Given the description of an element on the screen output the (x, y) to click on. 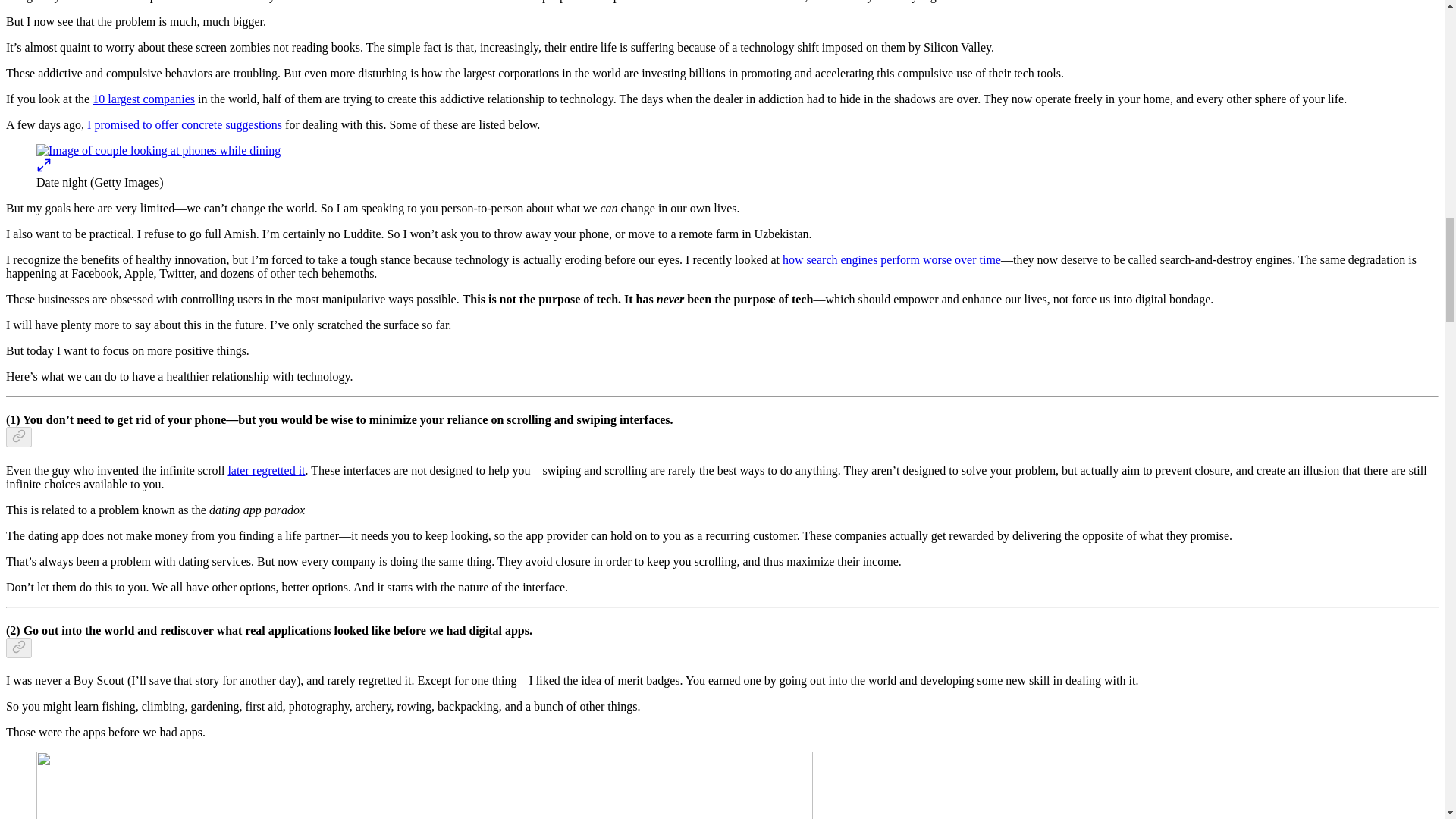
Image of couple looking at phones while dining (158, 151)
10 largest companies (144, 98)
I promised to offer concrete suggestions (184, 124)
